Given the description of an element on the screen output the (x, y) to click on. 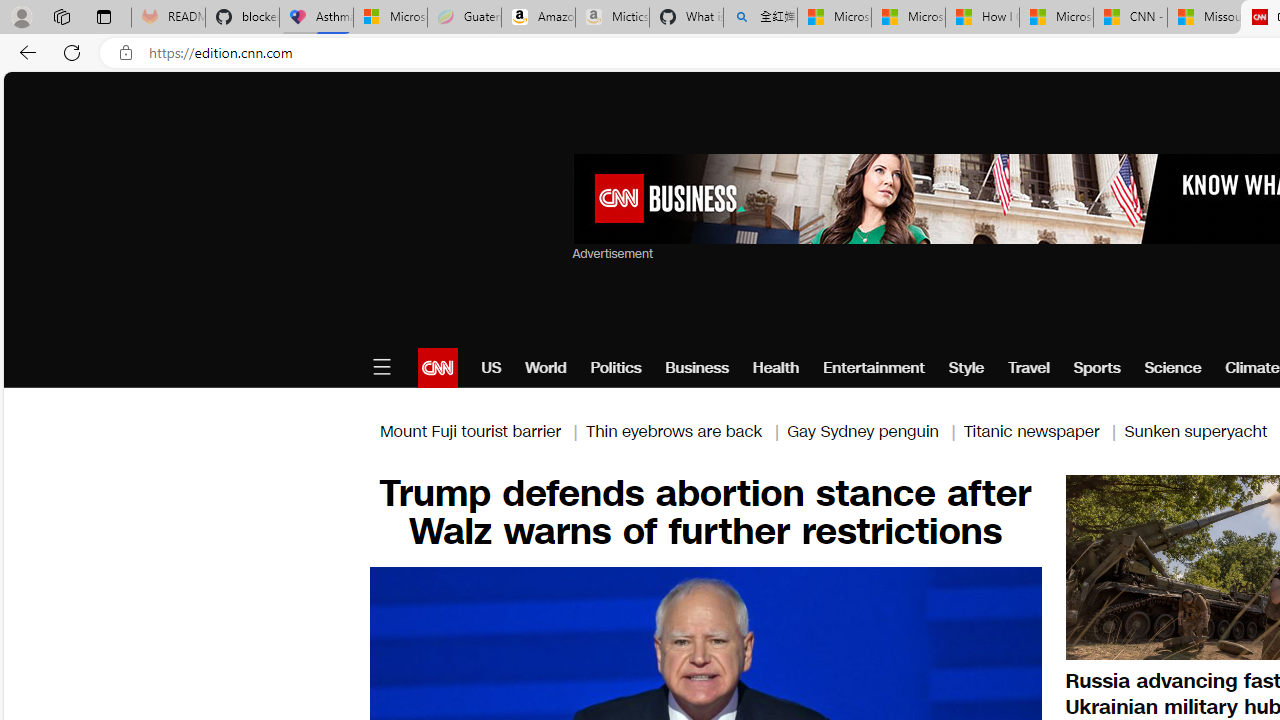
CNN - MSN (1130, 17)
Asthma Inhalers: Names and Types (316, 17)
Gay Sydney penguin | (875, 430)
Thin eyebrows are back | (686, 430)
CNN logo (437, 367)
US (491, 367)
Sports (1096, 367)
Health (776, 367)
Open Menu Icon (381, 367)
World (545, 367)
Titanic newspaper | (1043, 430)
